Given the description of an element on the screen output the (x, y) to click on. 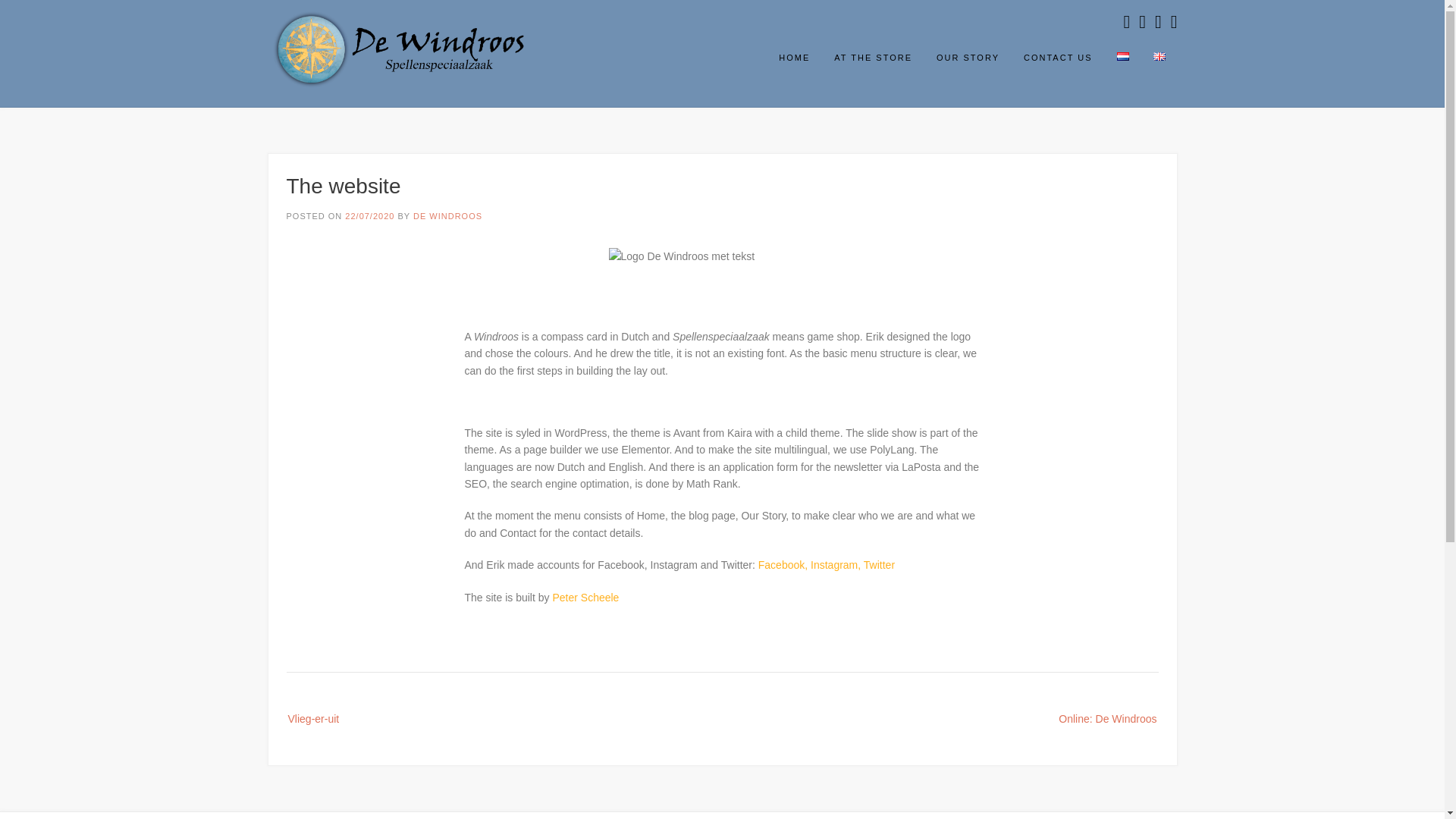
Peter Scheele (584, 597)
DE WINDROOS (447, 215)
Online: De Windroos (1092, 716)
Facebook, (784, 564)
Instagram, (835, 564)
OUR STORY (967, 62)
HOME (794, 62)
Vlieg-er-uit (327, 716)
AT THE STORE (873, 62)
CONTACT US (1058, 62)
Twitter (879, 564)
